Given the description of an element on the screen output the (x, y) to click on. 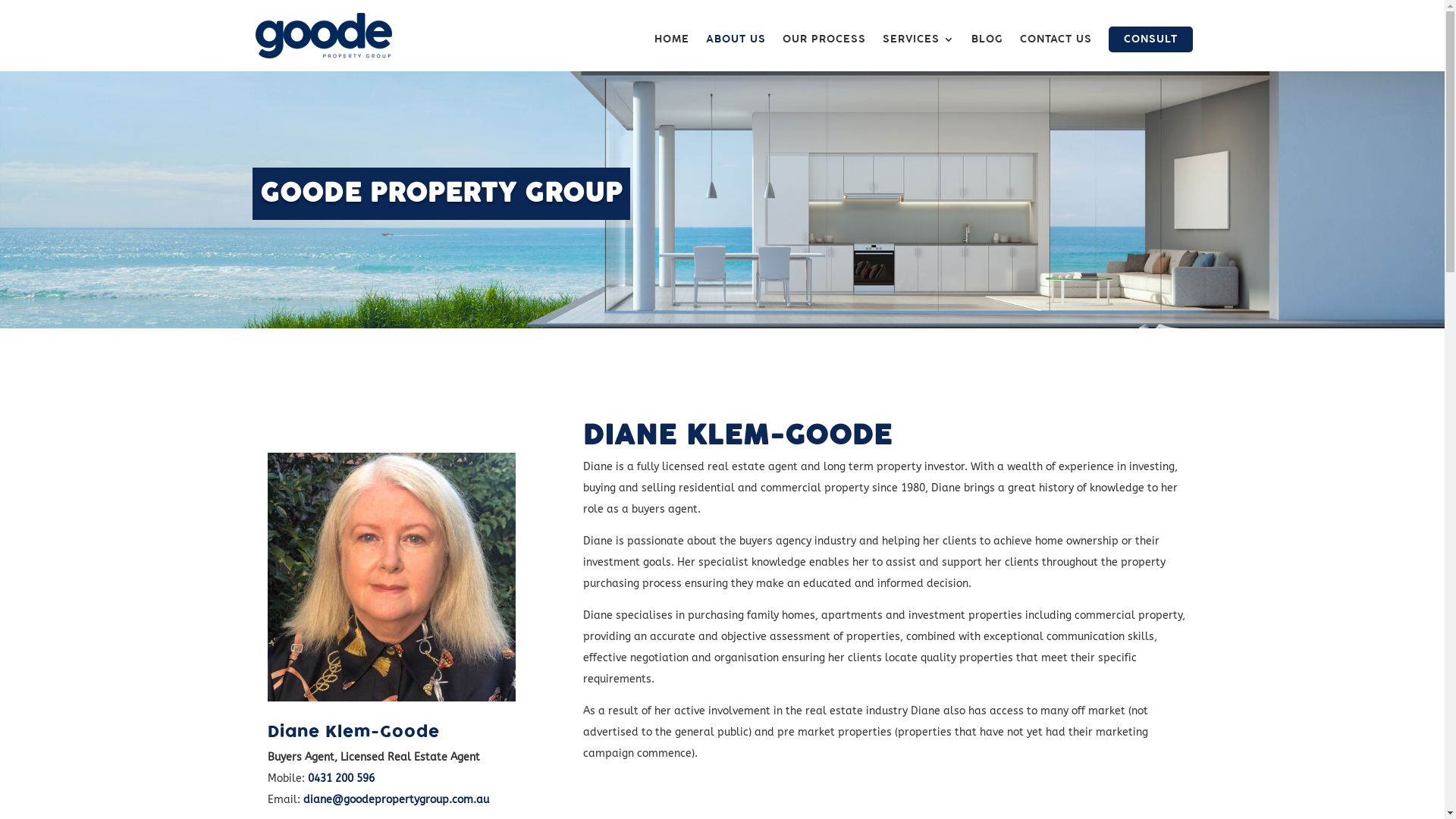
ABOUT US Element type: text (735, 52)
OUR PROCESS Element type: text (824, 52)
diane@goodepropertygroup.com.au Element type: text (396, 799)
CONSULT Element type: text (1150, 39)
BLOG Element type: text (986, 52)
SERVICES Element type: text (918, 52)
CONTACT US Element type: text (1055, 52)
0431 200 596 Element type: text (340, 777)
HOME Element type: text (670, 52)
